Given the description of an element on the screen output the (x, y) to click on. 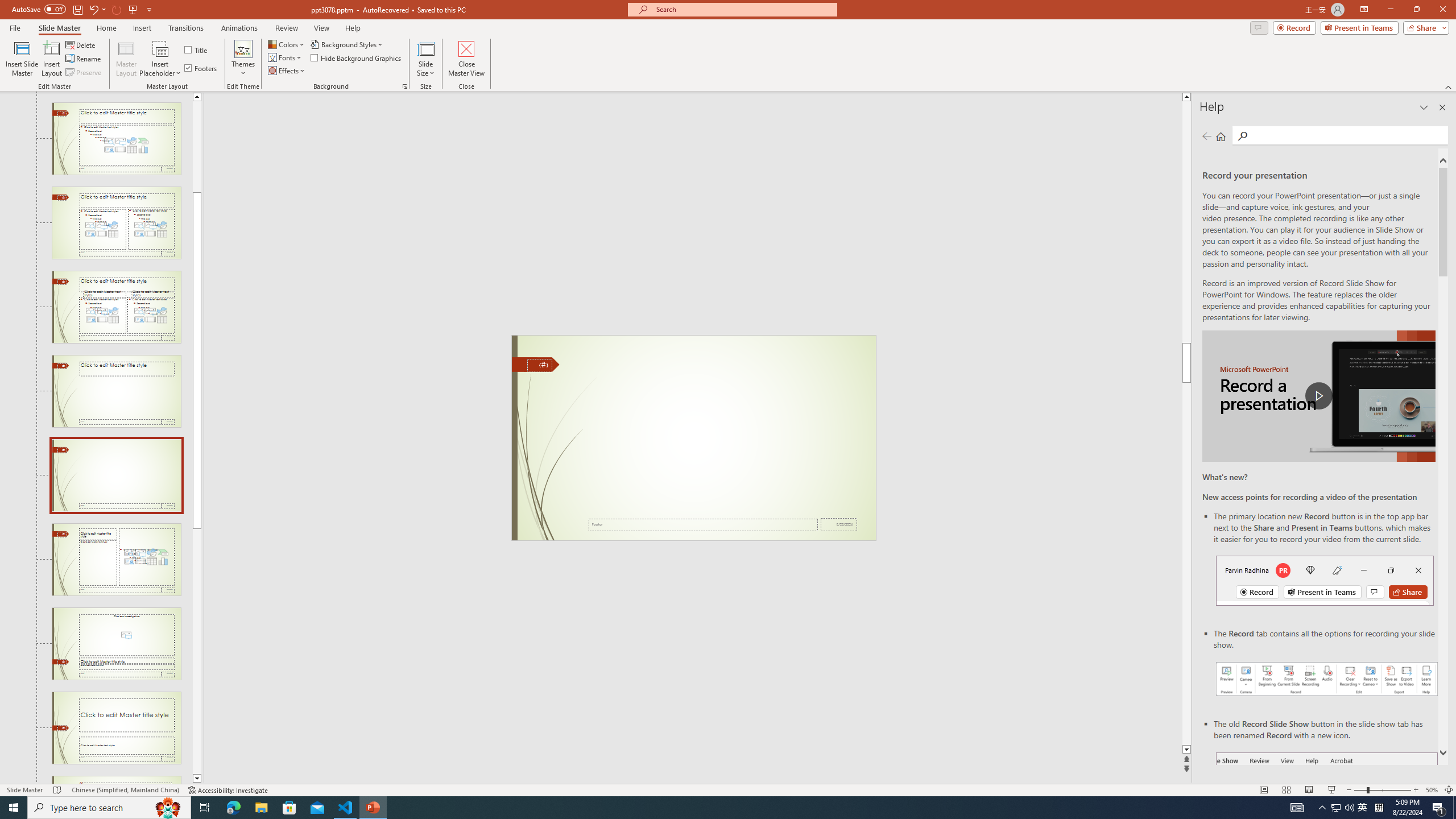
Effects (287, 69)
